Given the description of an element on the screen output the (x, y) to click on. 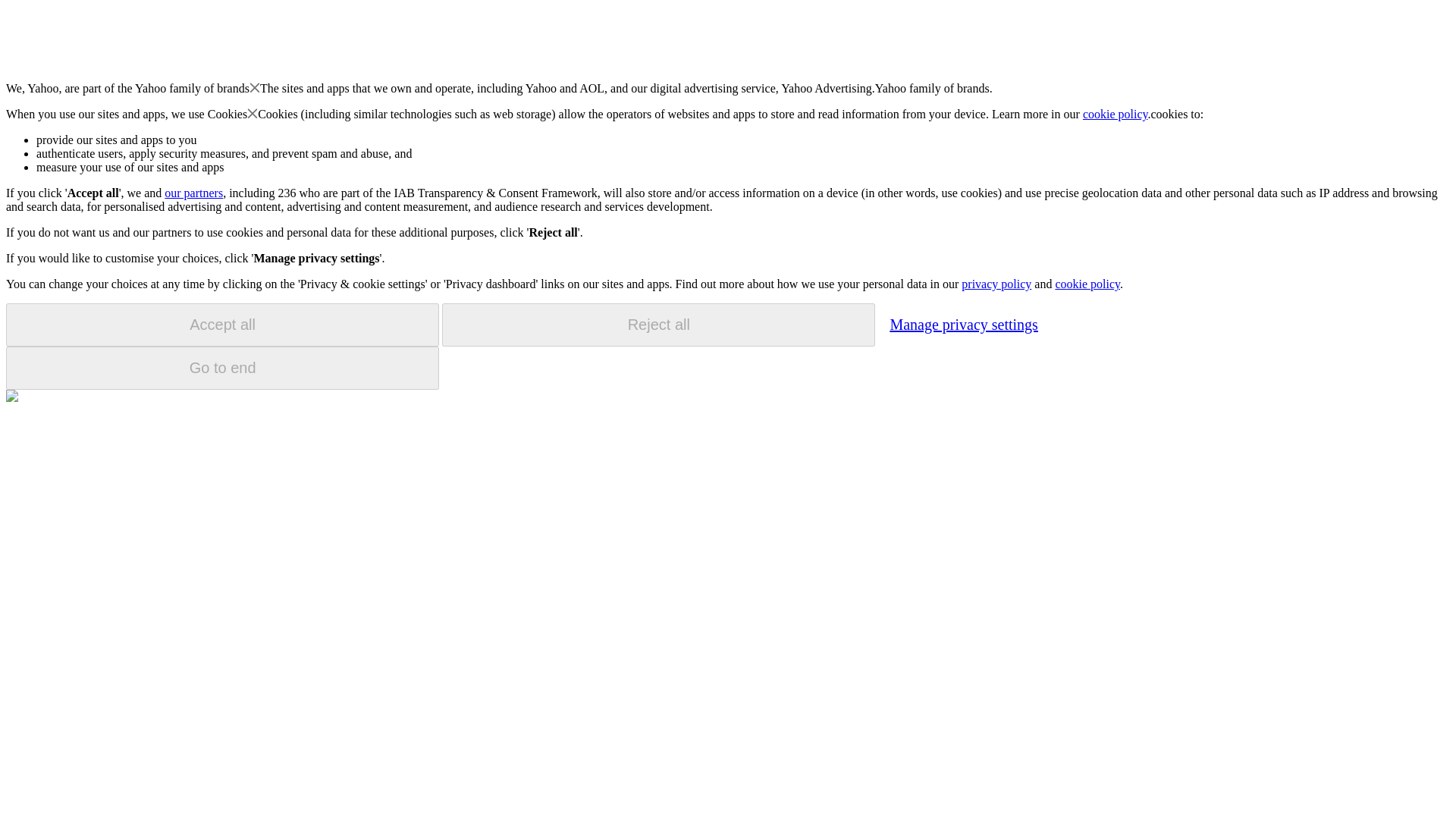
privacy policy (995, 283)
cookie policy (1115, 113)
Manage privacy settings (963, 323)
our partners (193, 192)
Reject all (658, 324)
Go to end (222, 367)
Accept all (222, 324)
cookie policy (1086, 283)
